Given the description of an element on the screen output the (x, y) to click on. 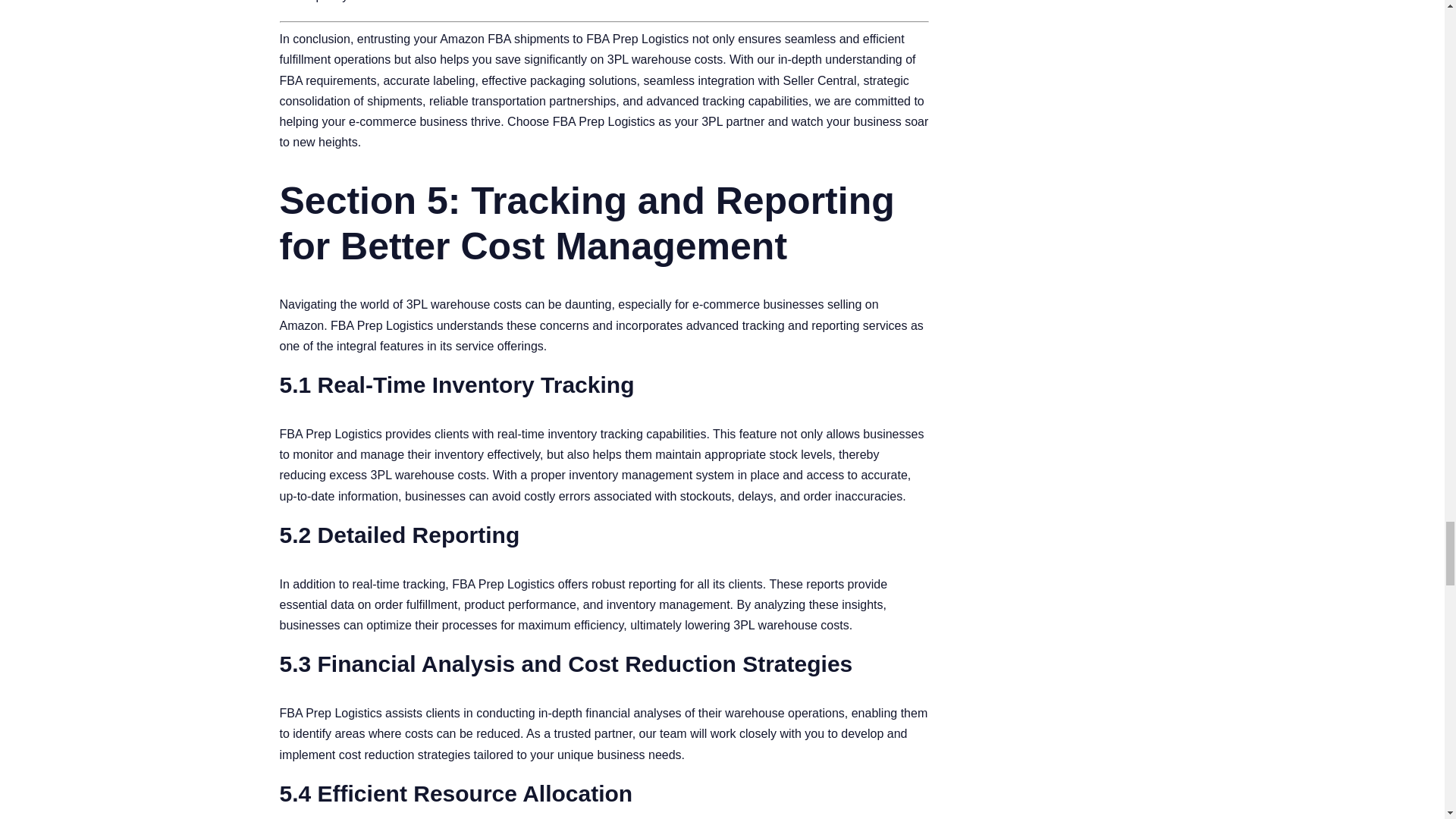
inventory tracking (594, 433)
cost reduction strategies (404, 754)
